Given the description of an element on the screen output the (x, y) to click on. 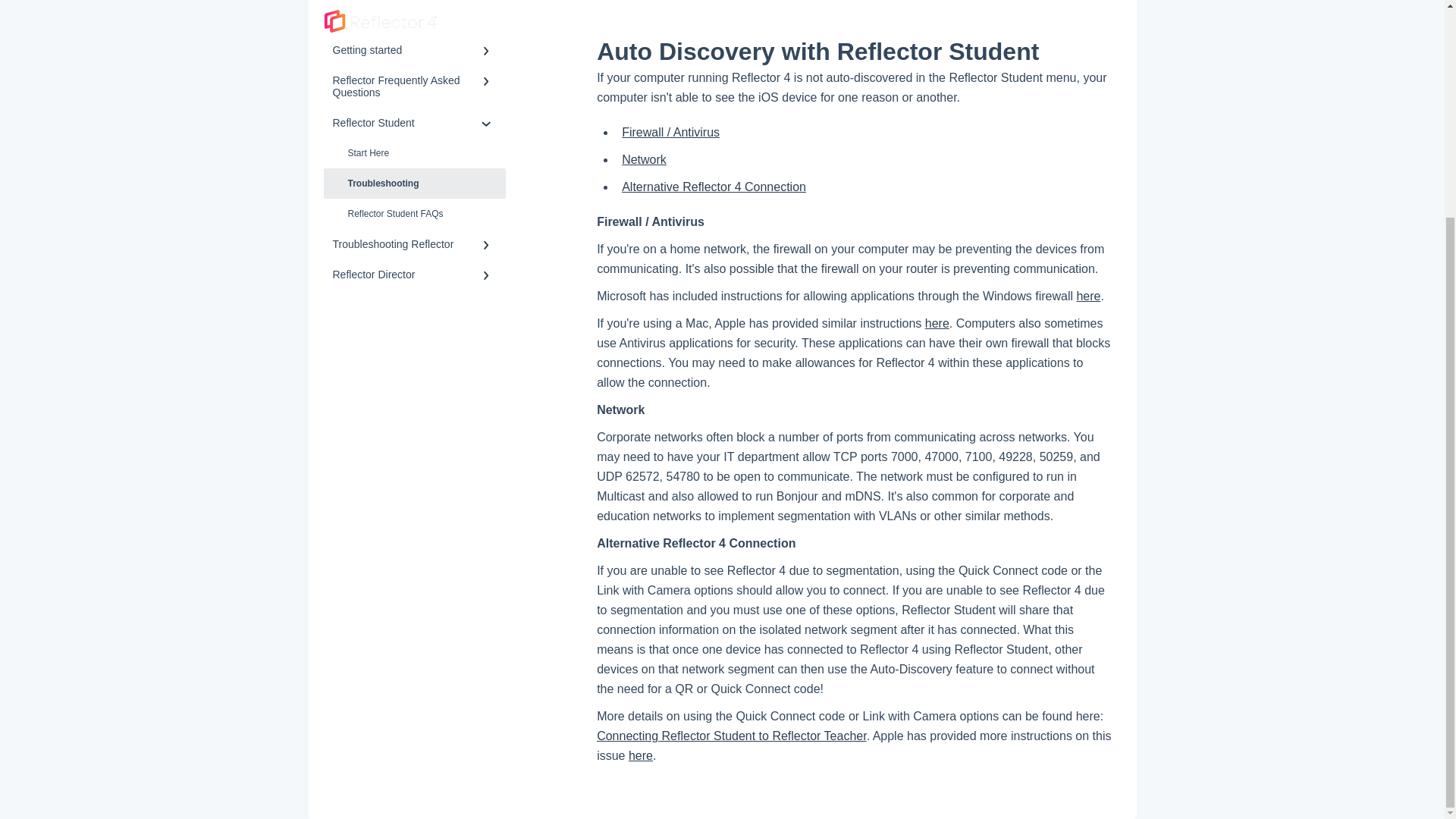
Reflector Student (414, 122)
Reflector Student FAQs (414, 214)
Getting started (414, 50)
Start Here (414, 153)
Reflector Frequently Asked Questions (414, 86)
Troubleshooting (414, 183)
